Given the description of an element on the screen output the (x, y) to click on. 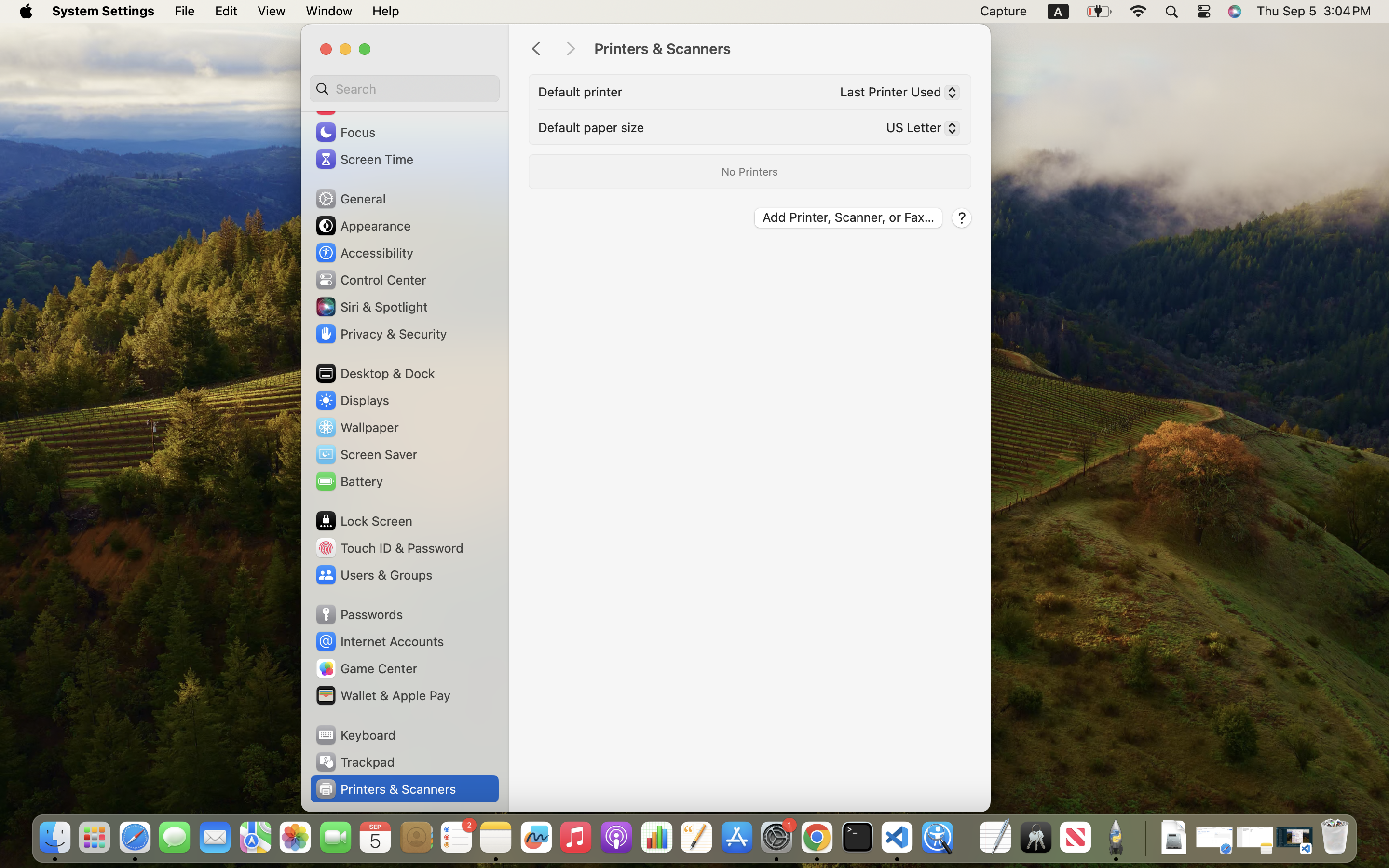
Touch ID & Password Element type: AXStaticText (388, 547)
Screen Time Element type: AXStaticText (363, 158)
Passwords Element type: AXStaticText (358, 613)
Game Center Element type: AXStaticText (365, 667)
US Letter Element type: AXPopUpButton (918, 129)
